Given the description of an element on the screen output the (x, y) to click on. 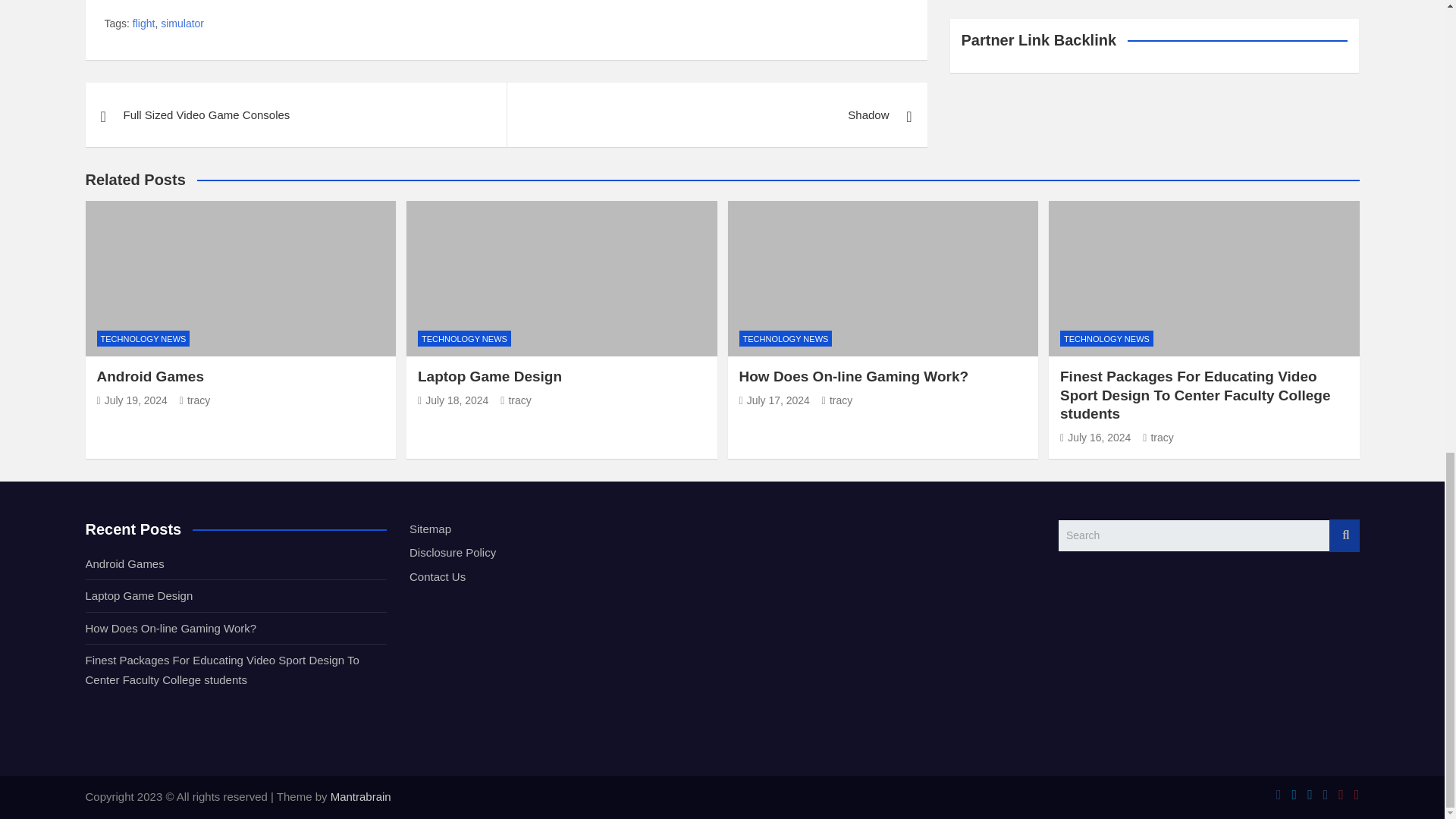
Android Games (132, 399)
How Does On-line Gaming Work? (773, 399)
flight (143, 24)
Mantrabrain (360, 796)
Laptop Game Design (452, 399)
Shadow (716, 115)
Full Sized Video Game Consoles (294, 115)
simulator (181, 24)
